Given the description of an element on the screen output the (x, y) to click on. 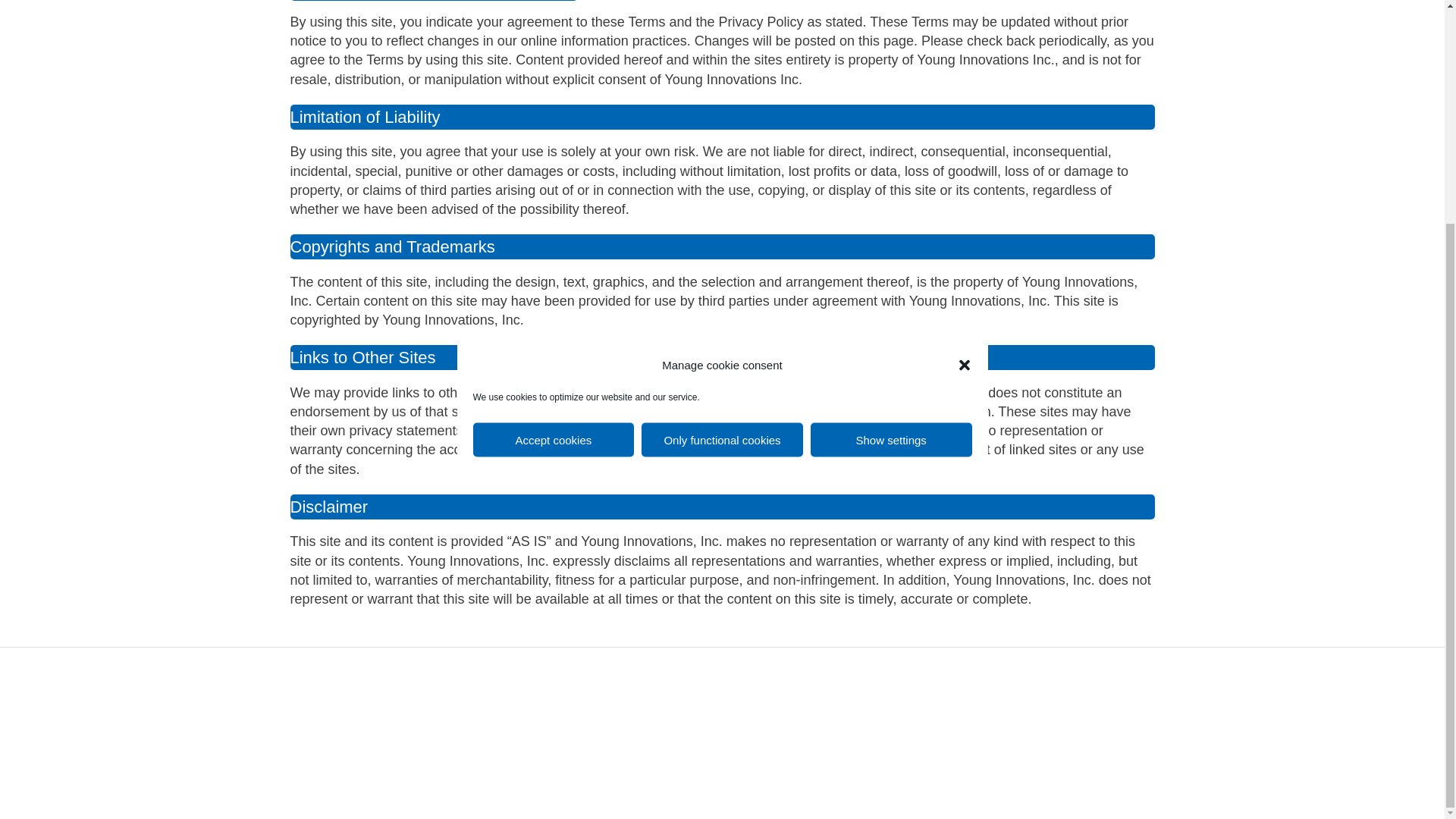
Only functional cookies (722, 142)
Accept cookies (553, 142)
Sitemap (601, 695)
Show settings (891, 142)
